Given the description of an element on the screen output the (x, y) to click on. 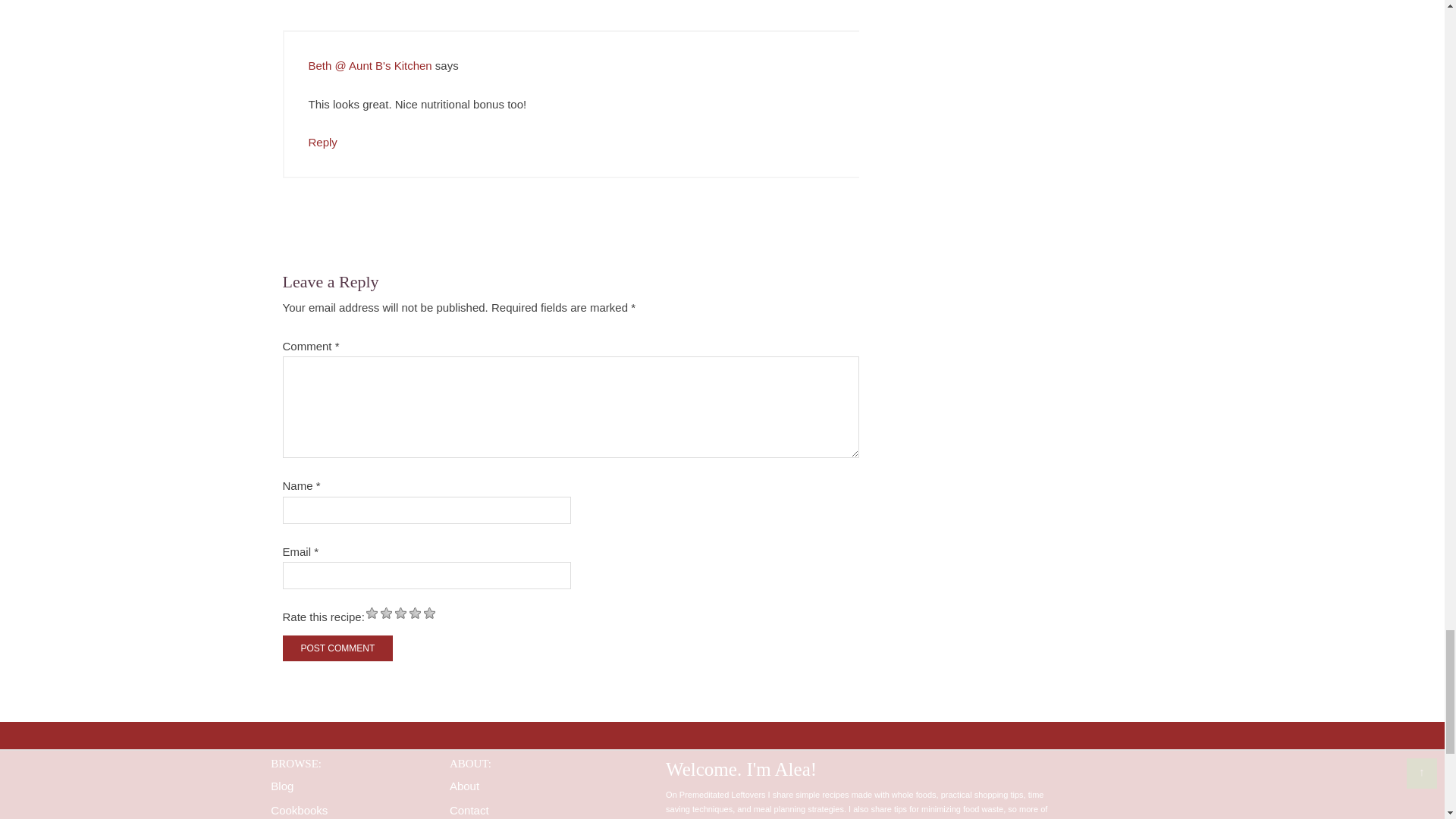
Post Comment (337, 647)
